Given the description of an element on the screen output the (x, y) to click on. 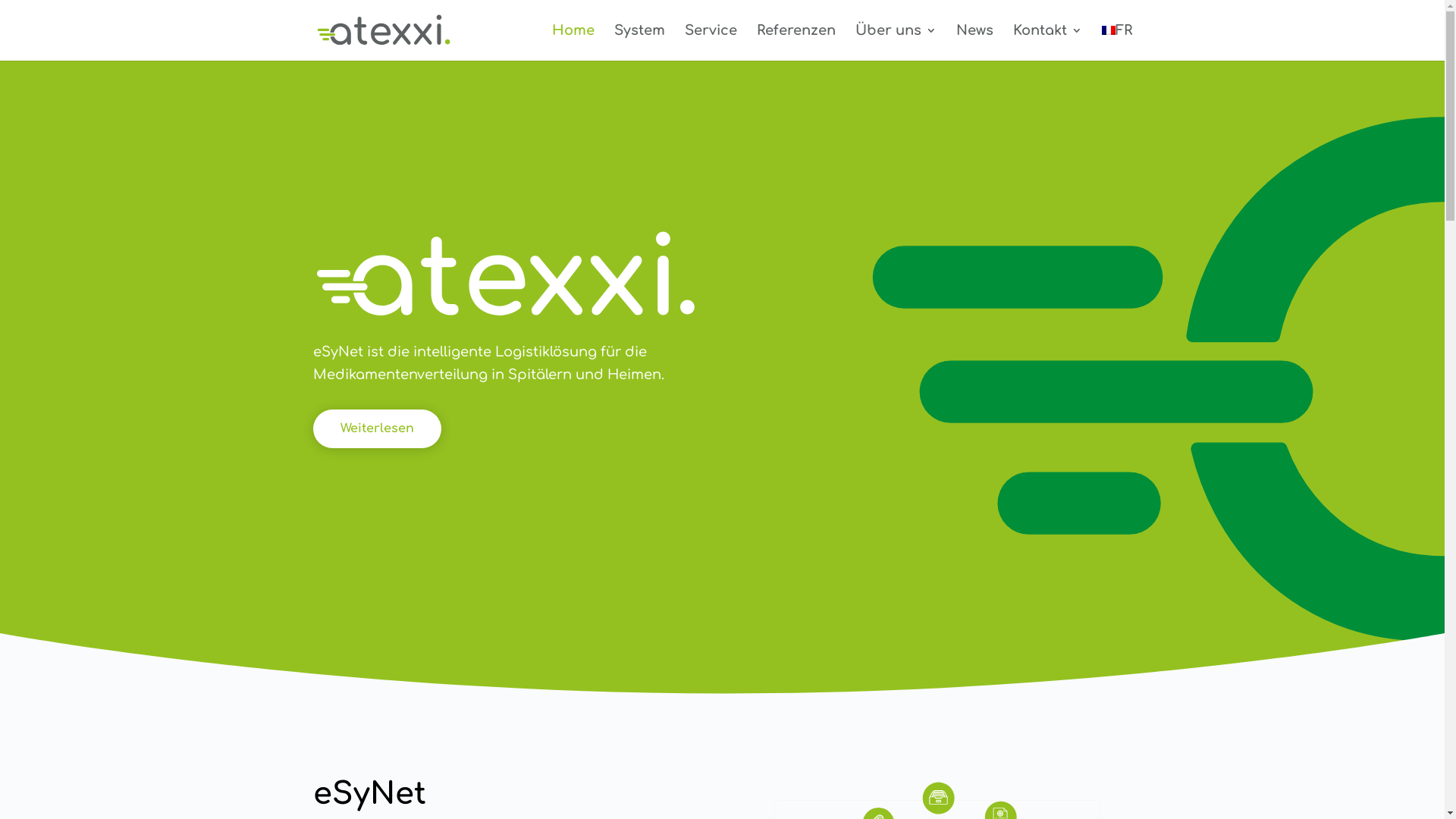
Weiterlesen Element type: text (376, 428)
Kontakt Element type: text (1047, 42)
FR Element type: text (1116, 42)
Referenzen Element type: text (795, 42)
News Element type: text (973, 42)
Home Element type: text (573, 42)
Service Element type: text (710, 42)
atexxi-logo_weiss Element type: hover (505, 274)
System Element type: text (639, 42)
